Given the description of an element on the screen output the (x, y) to click on. 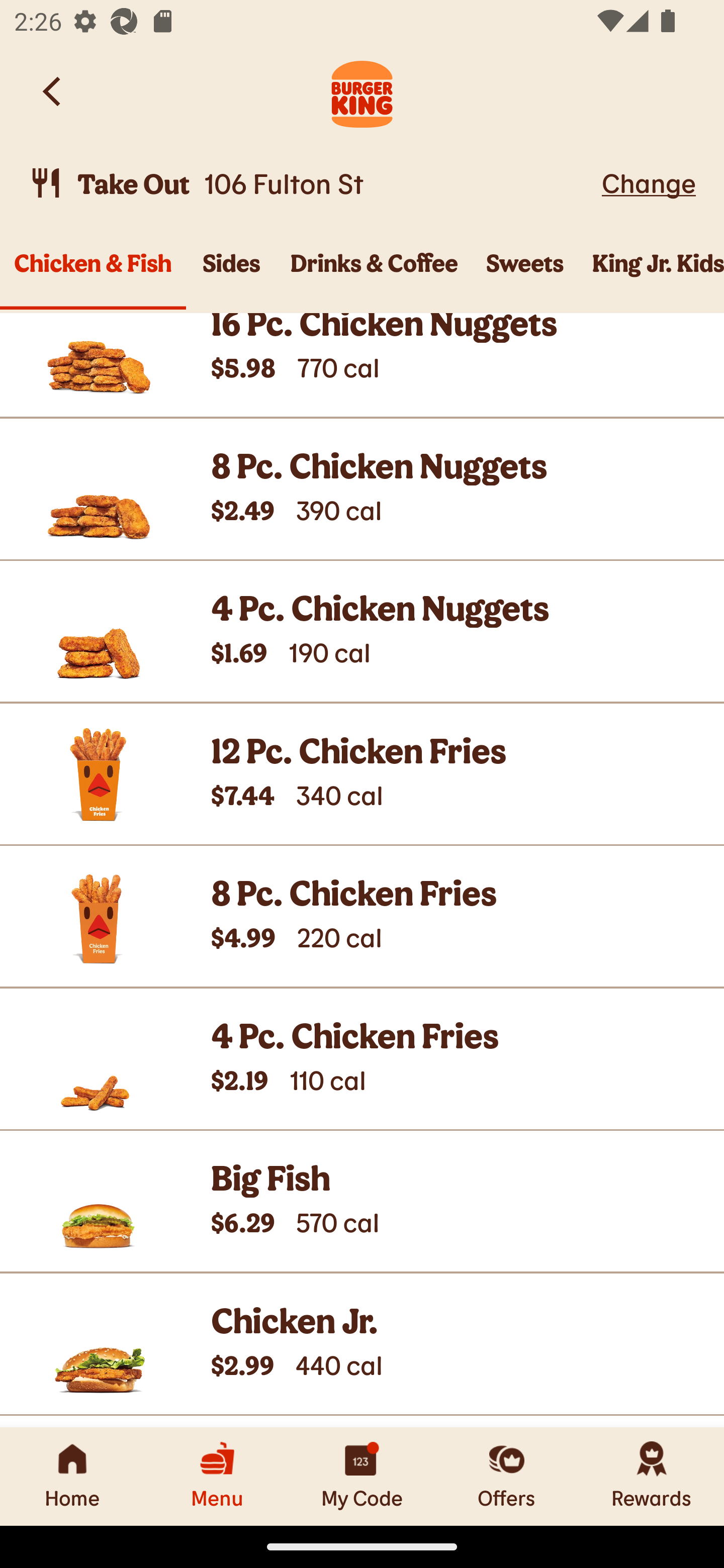
Burger King Logo. Navigate to Home (362, 91)
Back (52, 91)
Take Out, 106 Fulton St  Take Out 106 Fulton St (311, 183)
Change (648, 182)
Chicken & Fish (93, 273)
Sides (231, 273)
Drinks & Coffee (374, 273)
Sweets (525, 273)
King Jr. Kids Meals (651, 273)
Home (72, 1475)
Menu (216, 1475)
My Code (361, 1475)
Offers (506, 1475)
Rewards (651, 1475)
